Given the description of an element on the screen output the (x, y) to click on. 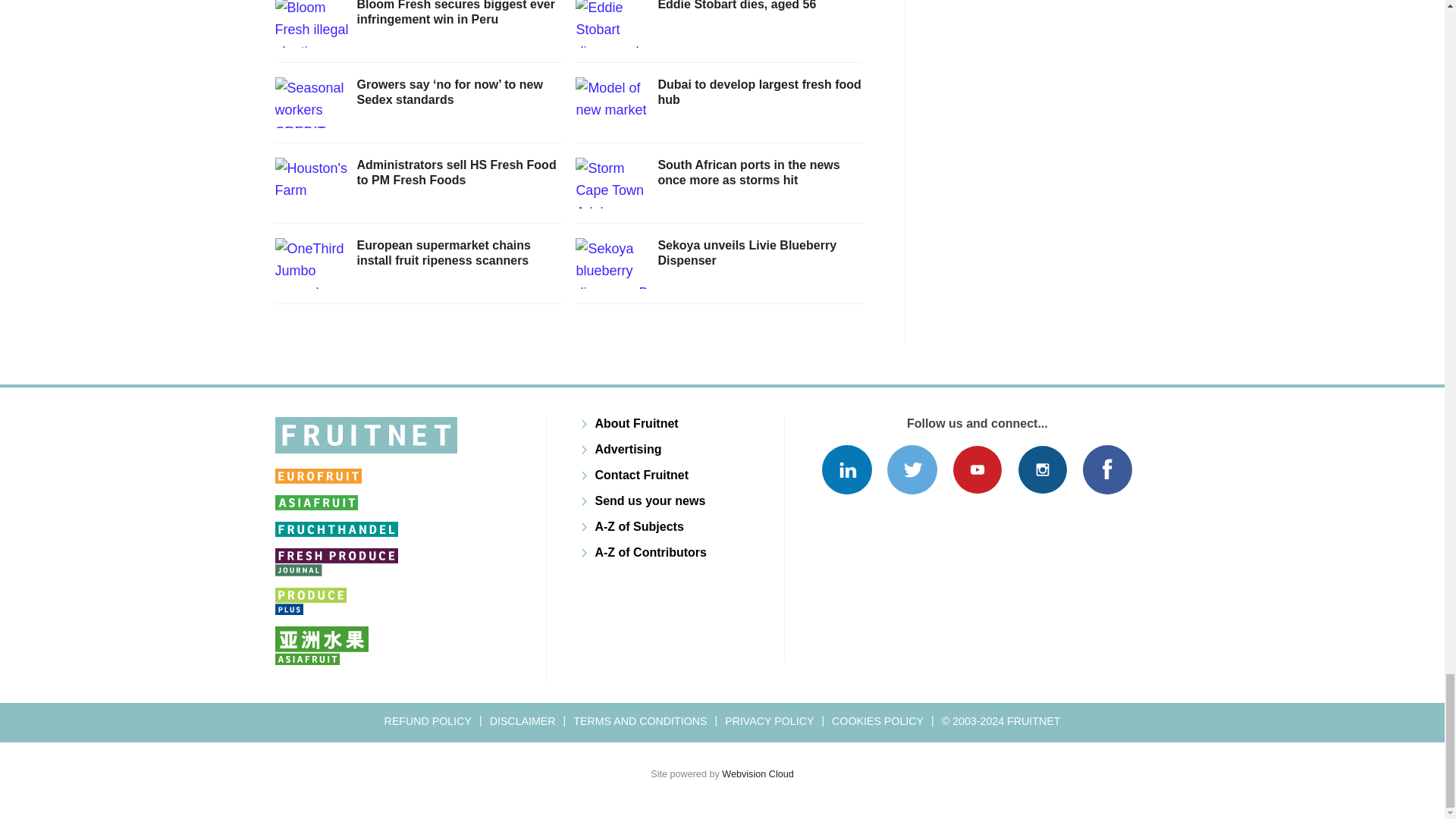
Follow us on Facebook (1107, 469)
Follow us on Instagram (1042, 469)
Follow us on Linked In (846, 469)
Connect with us on Twitter (911, 469)
Connect with us on Youtube (976, 469)
